Given the description of an element on the screen output the (x, y) to click on. 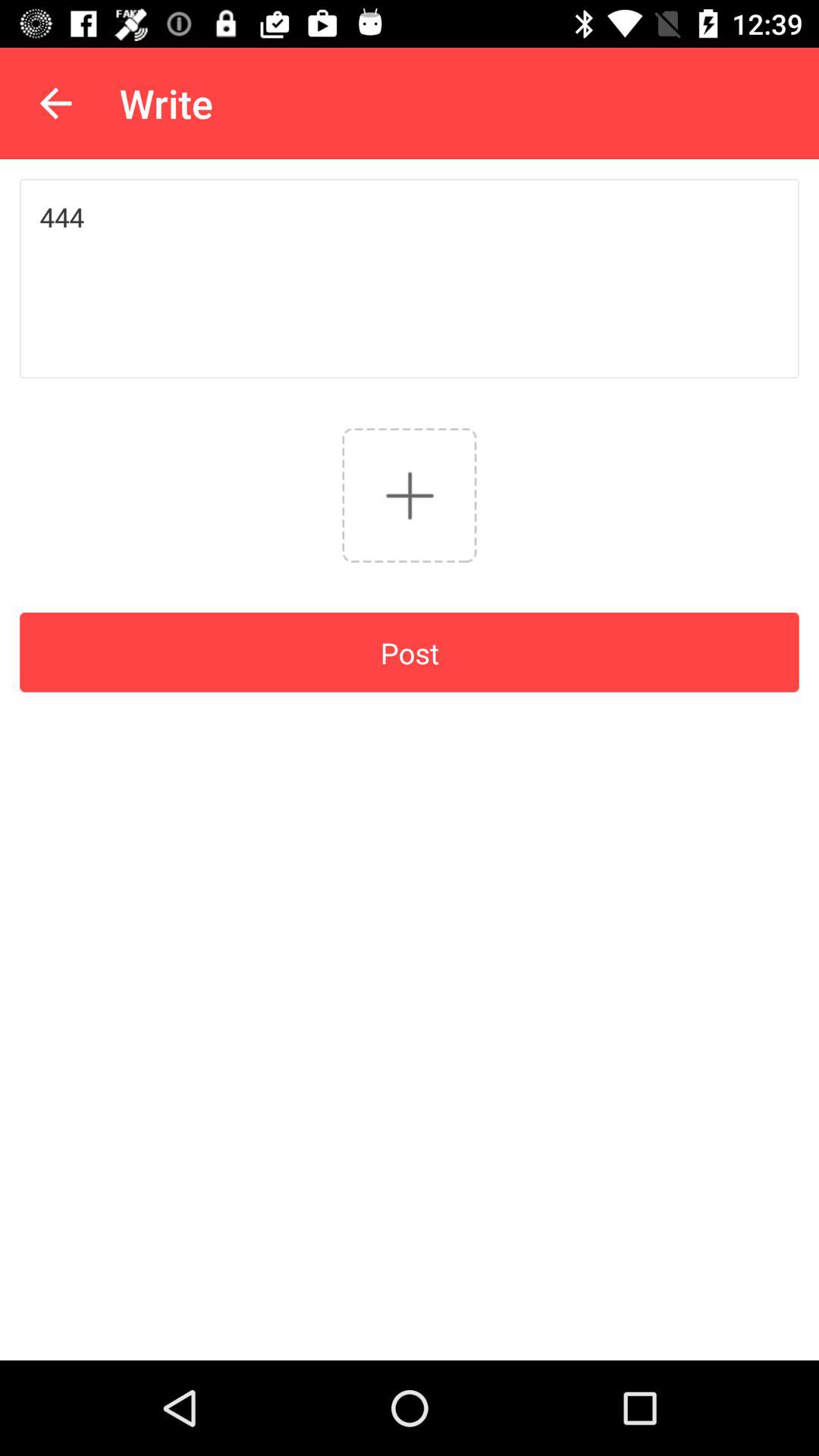
click item below the 444 (409, 495)
